Given the description of an element on the screen output the (x, y) to click on. 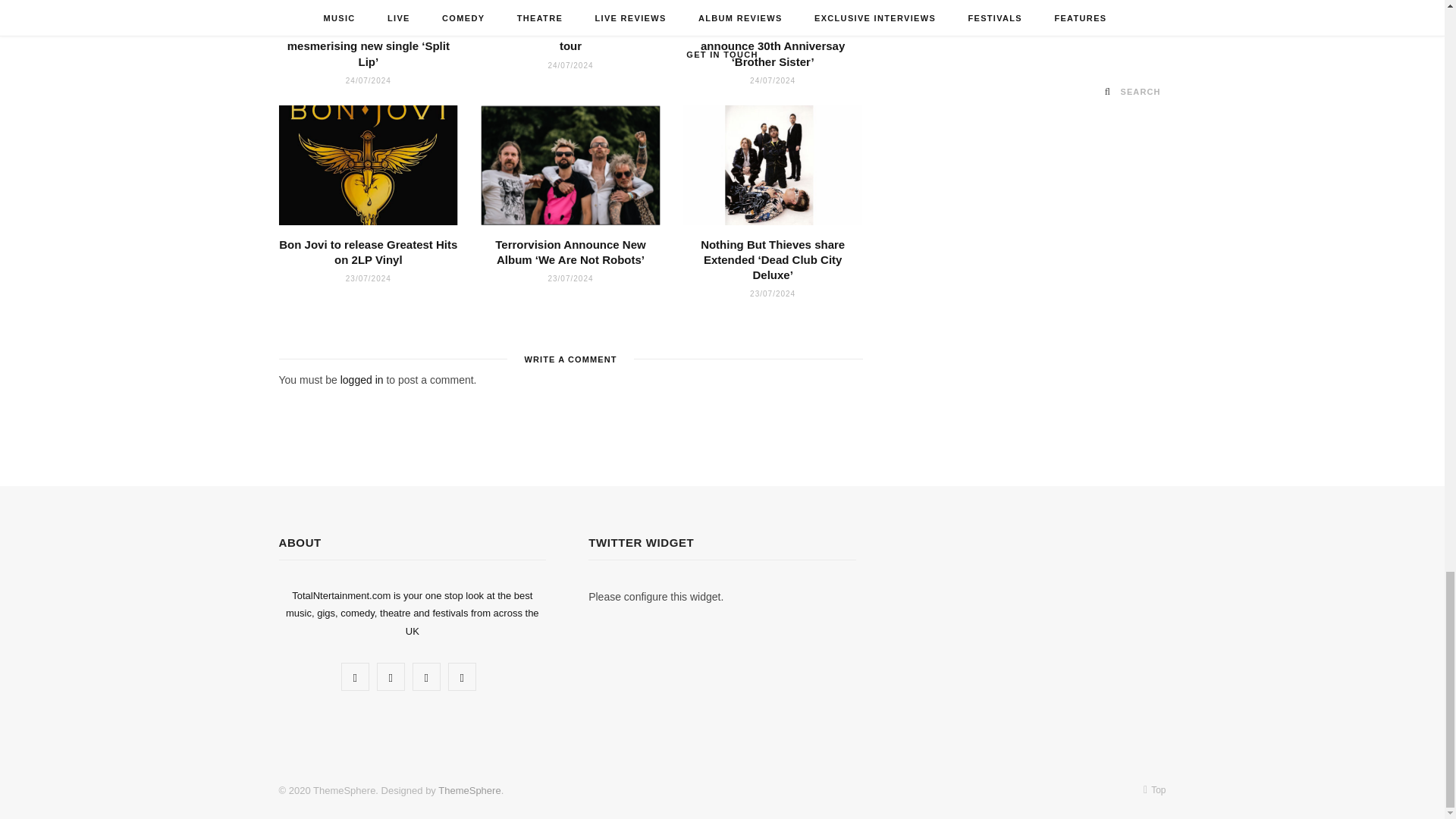
Nina Nesbitt announces October tour (570, 5)
